Given the description of an element on the screen output the (x, y) to click on. 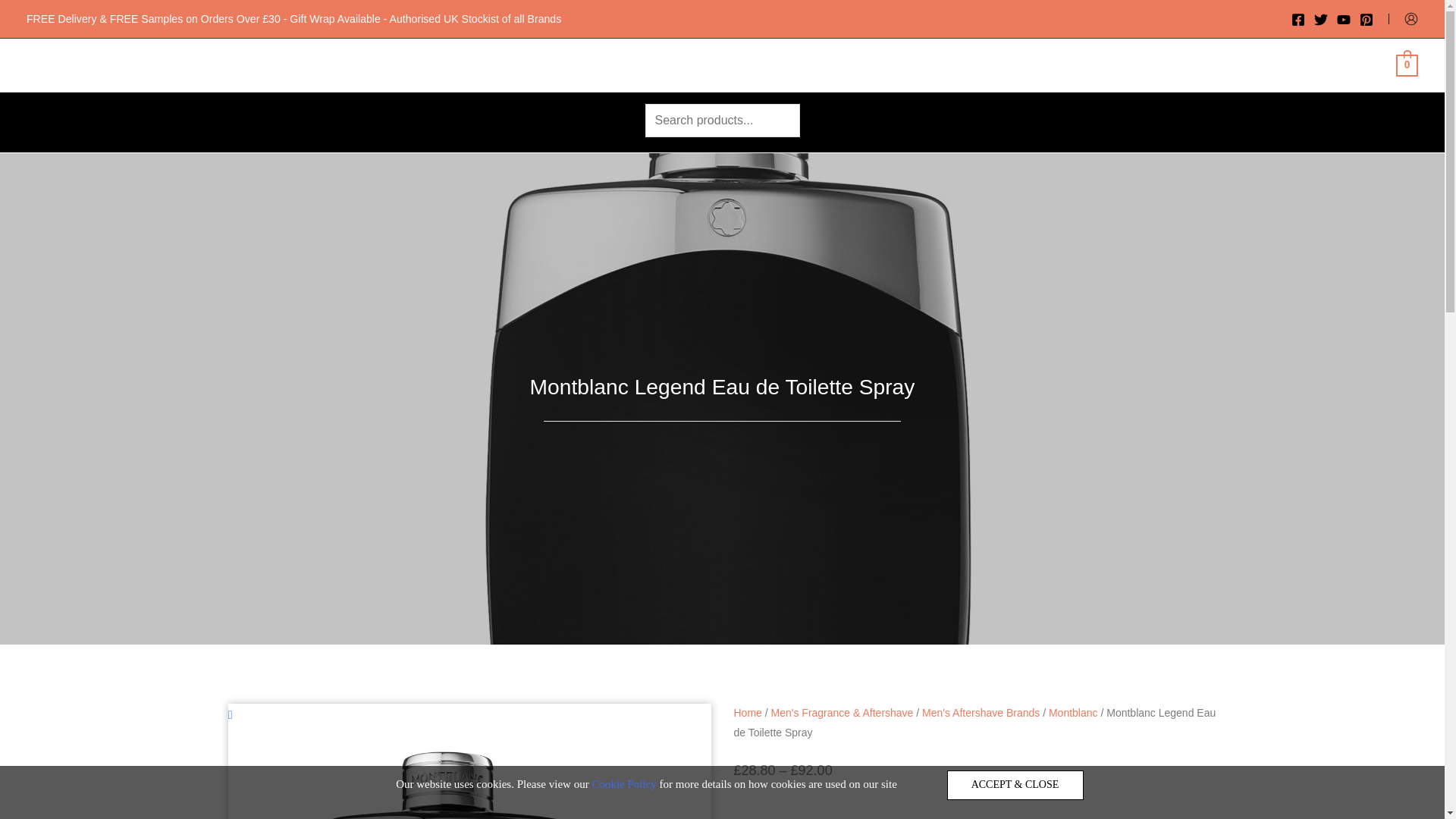
Legend 100ml Single (444, 772)
FRAGRANCE (592, 64)
BRANDS (490, 64)
